Given the description of an element on the screen output the (x, y) to click on. 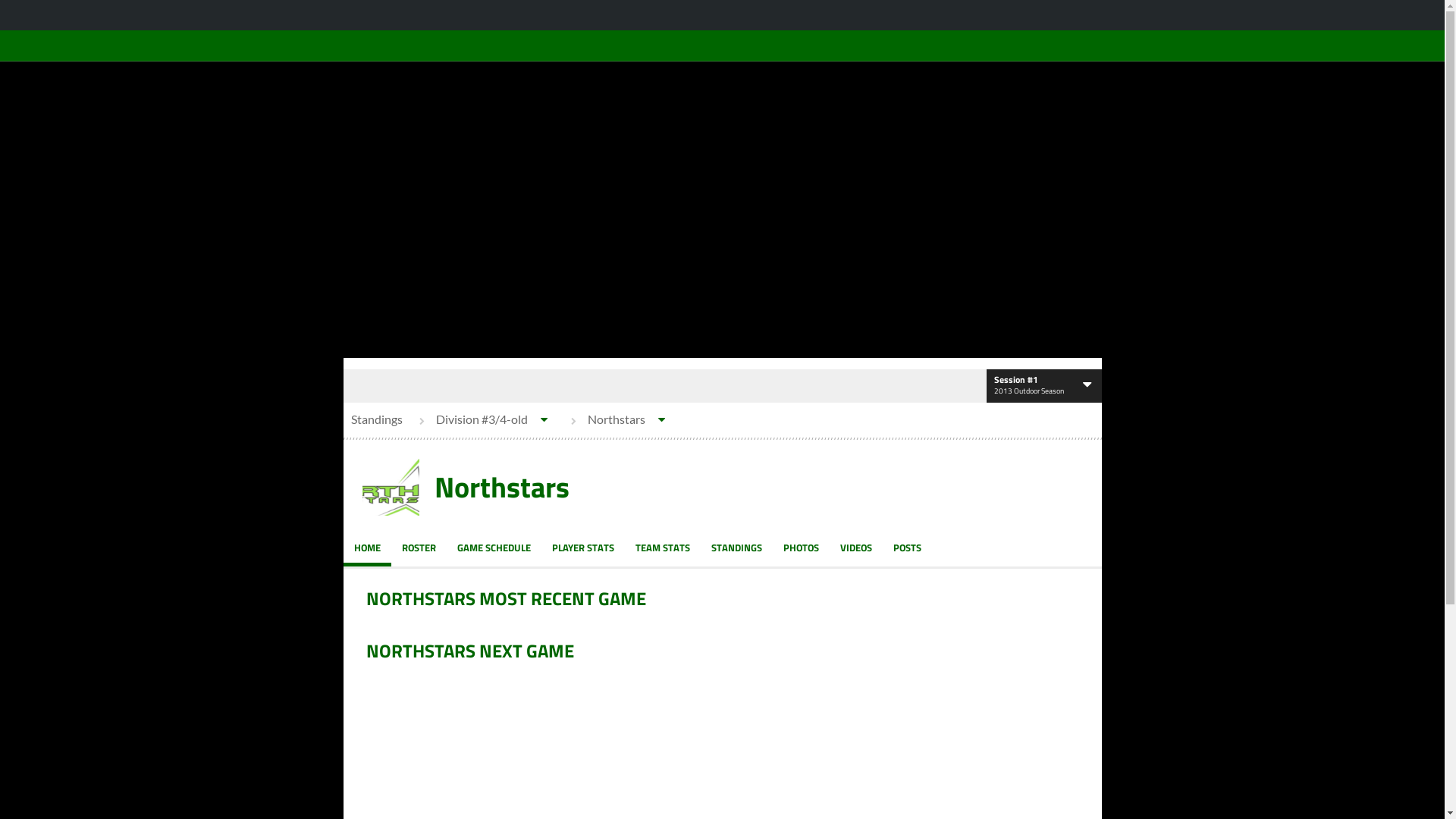
TEAM STATS Element type: text (662, 548)
Division #3/4-old Element type: text (485, 419)
Northstars Element type: text (619, 419)
Northstars Element type: text (500, 487)
PHOTOS Element type: text (799, 548)
HOME Element type: text (366, 548)
STANDINGS Element type: text (736, 548)
GAME SCHEDULE Element type: text (492, 548)
VIDEOS Element type: text (855, 548)
PLAYER STATS Element type: text (582, 548)
ROSTER Element type: text (418, 548)
POSTS Element type: text (906, 548)
Standings Element type: text (375, 419)
